Given the description of an element on the screen output the (x, y) to click on. 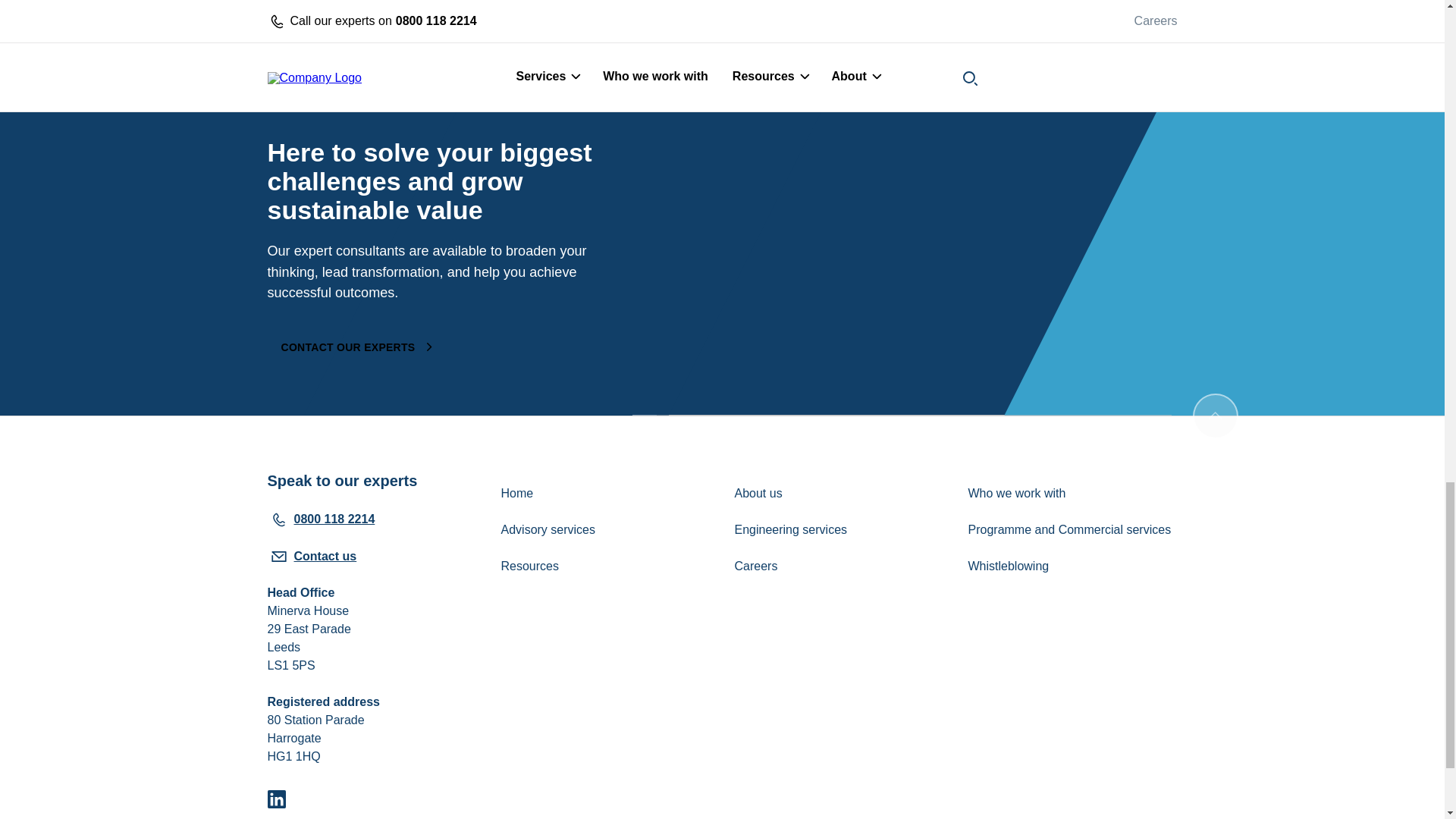
LinkedIn (275, 800)
